Given the description of an element on the screen output the (x, y) to click on. 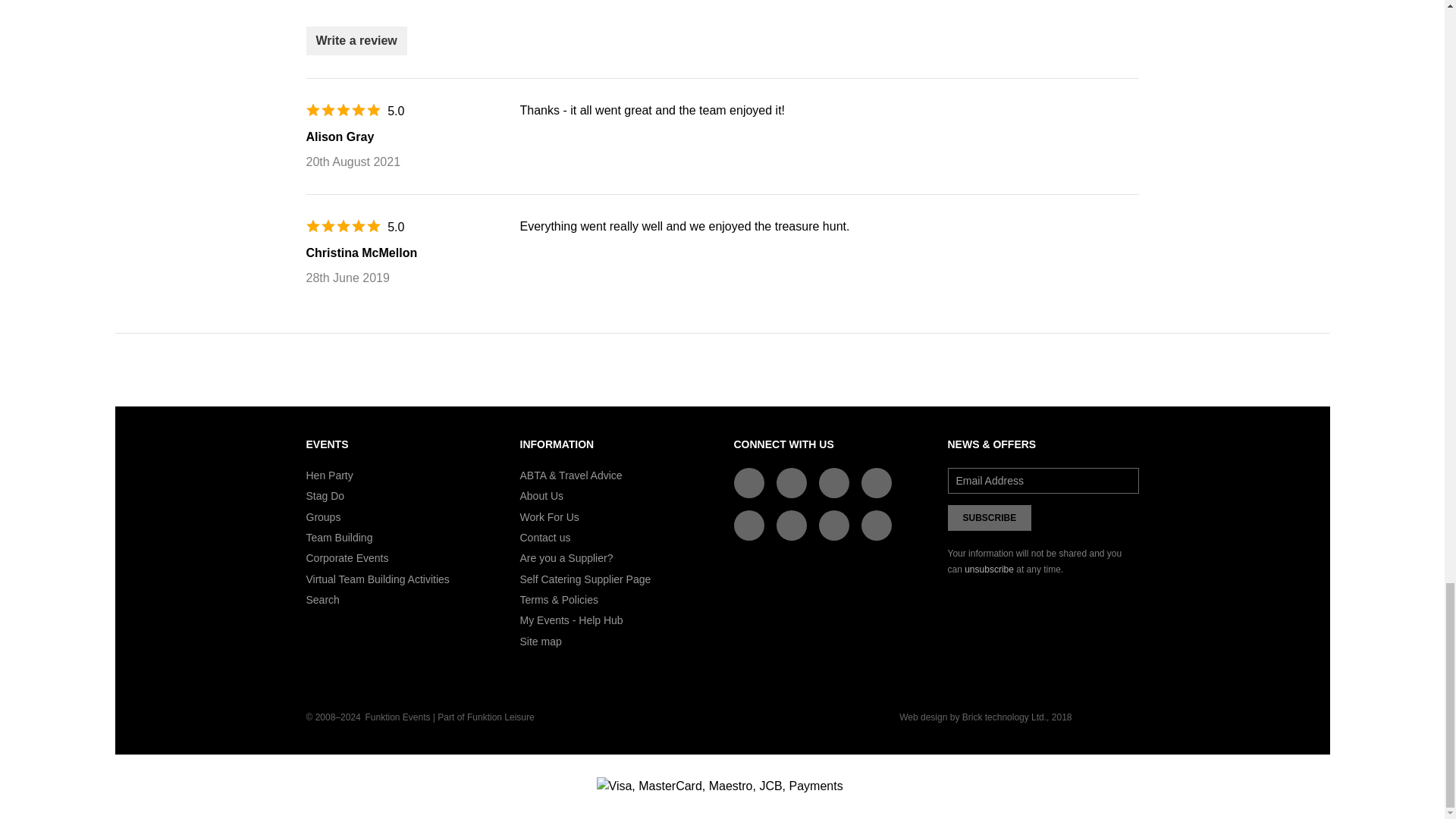
Excellent (342, 110)
Subscribe (989, 517)
Excellent (342, 225)
